Given the description of an element on the screen output the (x, y) to click on. 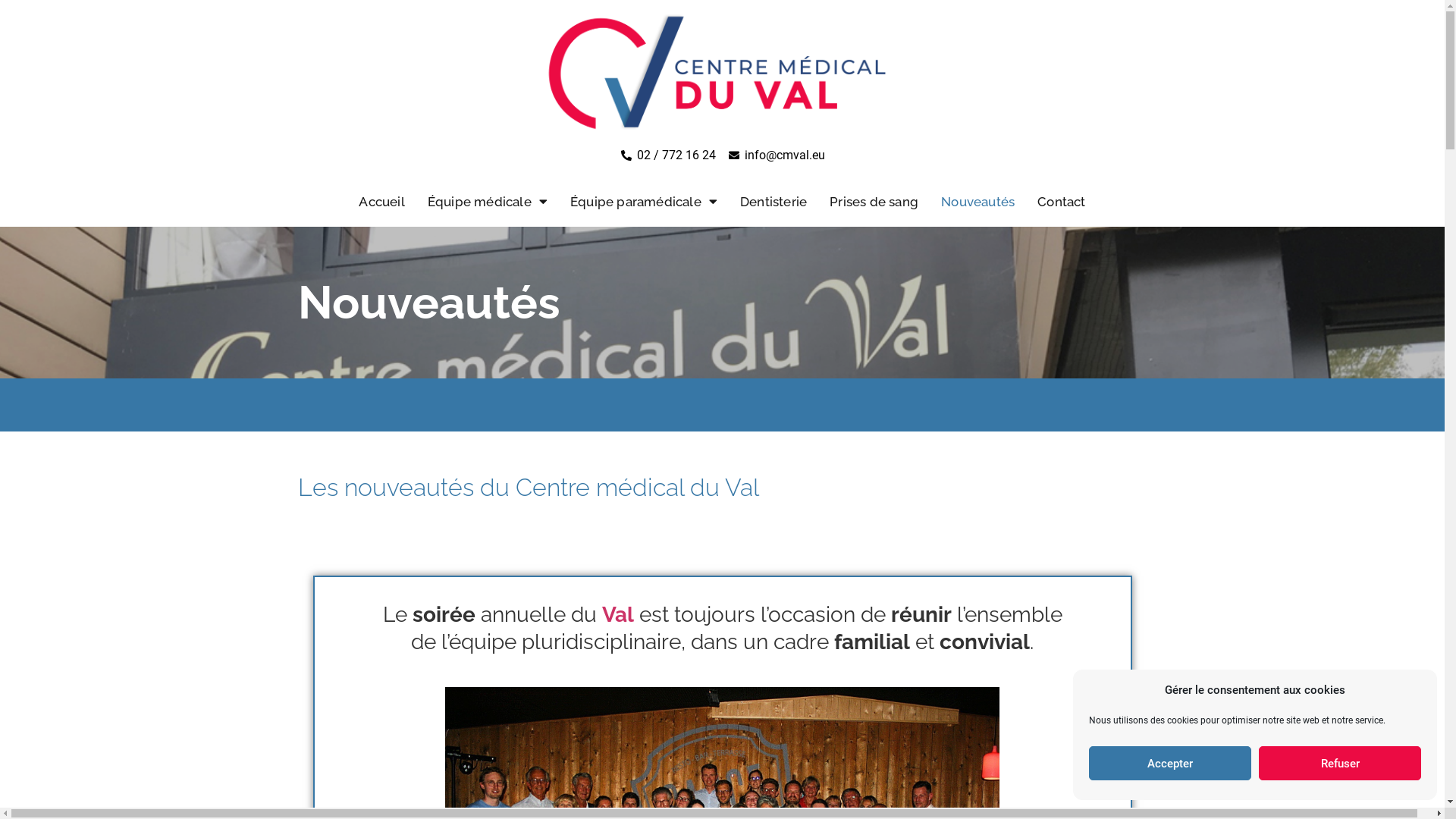
02 / 772 16 24 Element type: text (667, 155)
Accueil Element type: text (381, 201)
Accepter Element type: text (1169, 763)
Contact Element type: text (1061, 201)
Refuser Element type: text (1339, 763)
Dentisterie Element type: text (773, 201)
Prises de sang Element type: text (873, 201)
info@cmval.eu Element type: text (776, 155)
Val Element type: text (617, 614)
